Given the description of an element on the screen output the (x, y) to click on. 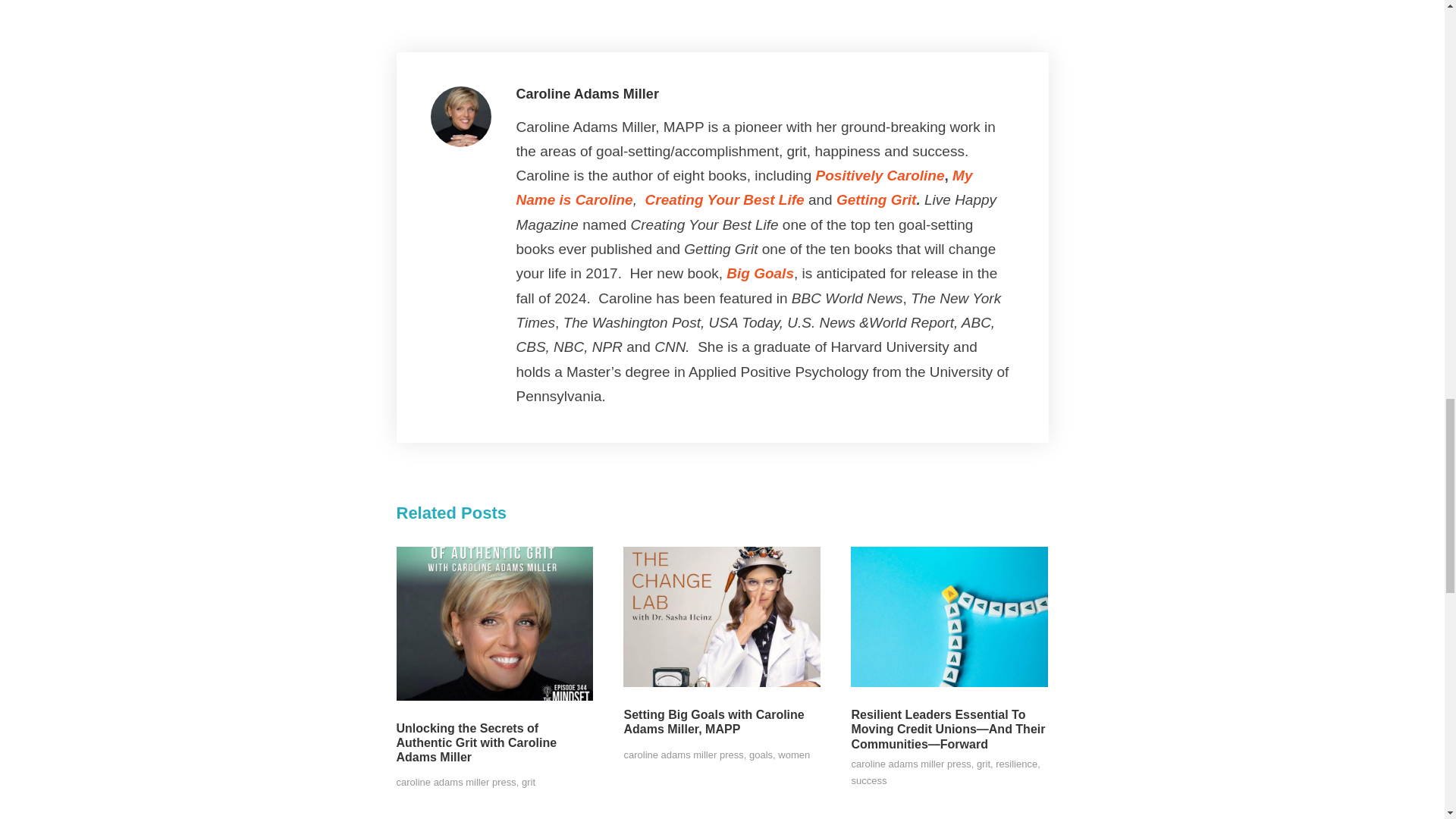
Follow,The,Leader.,At,The,Head,Of,The,Wedge.,Determine (949, 617)
change lab (722, 617)
Mindset Advantage (494, 624)
Posts by Caroline Adams Miller (586, 93)
